Given the description of an element on the screen output the (x, y) to click on. 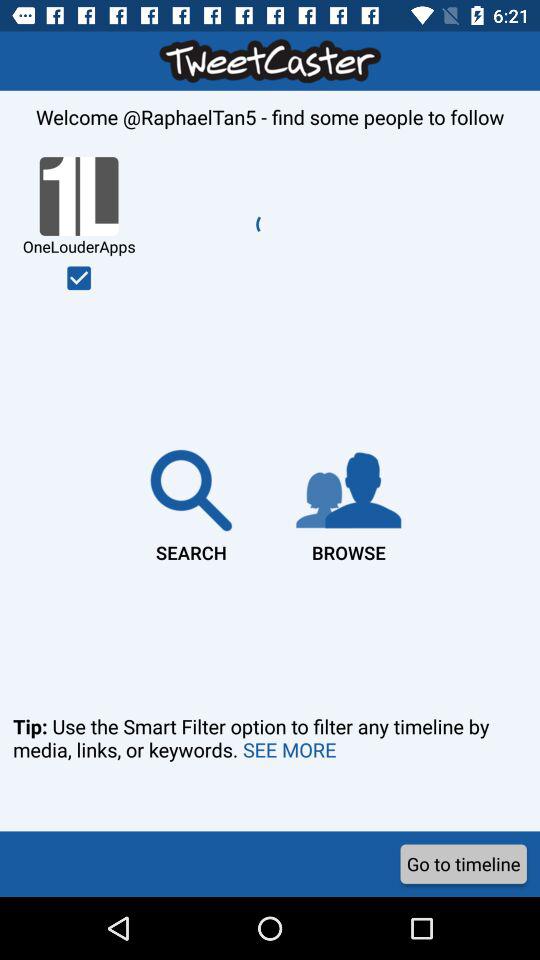
close this app (79, 278)
